Given the description of an element on the screen output the (x, y) to click on. 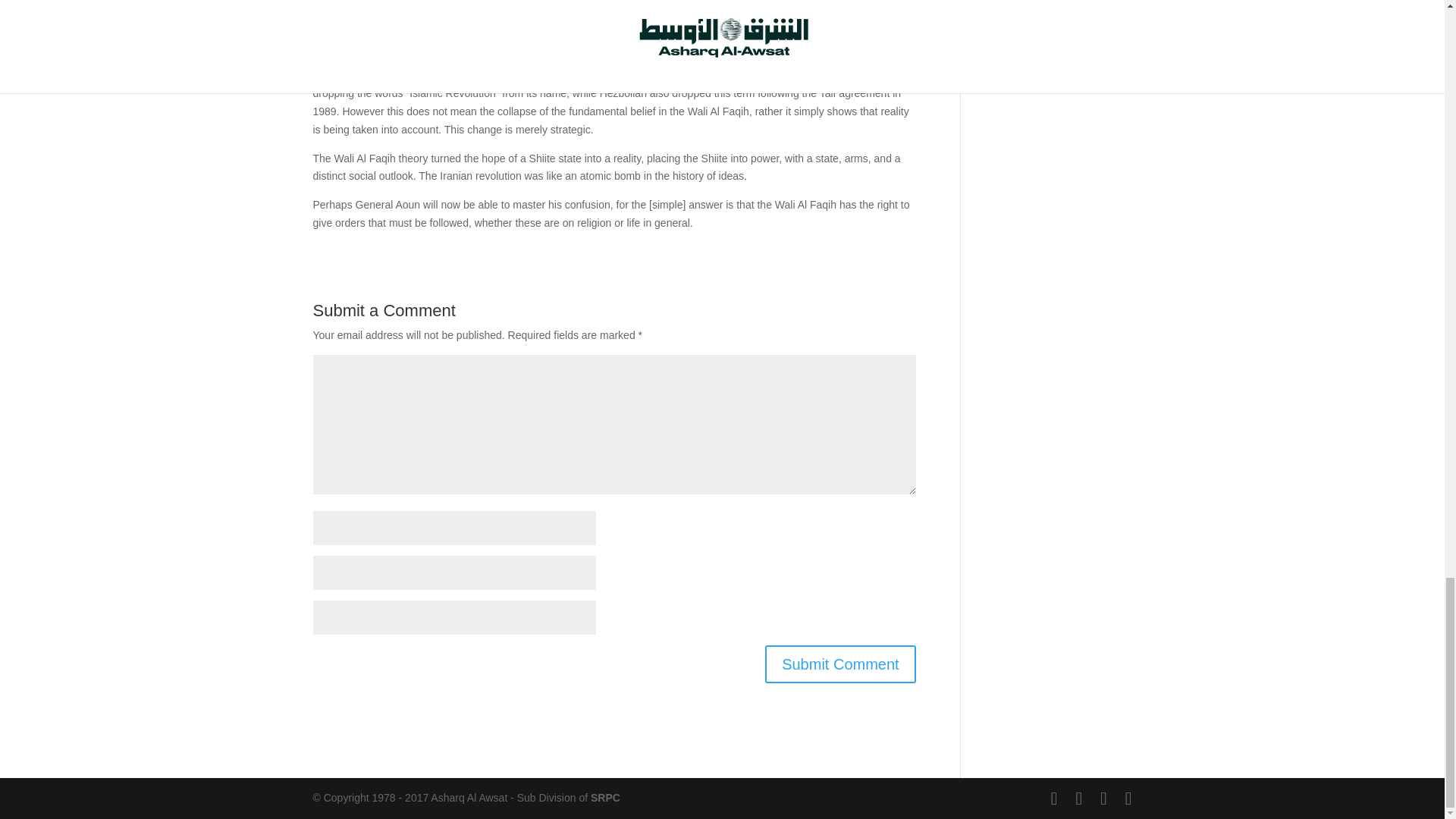
SRPC (605, 797)
Submit Comment (840, 664)
Submit Comment (840, 664)
